Given the description of an element on the screen output the (x, y) to click on. 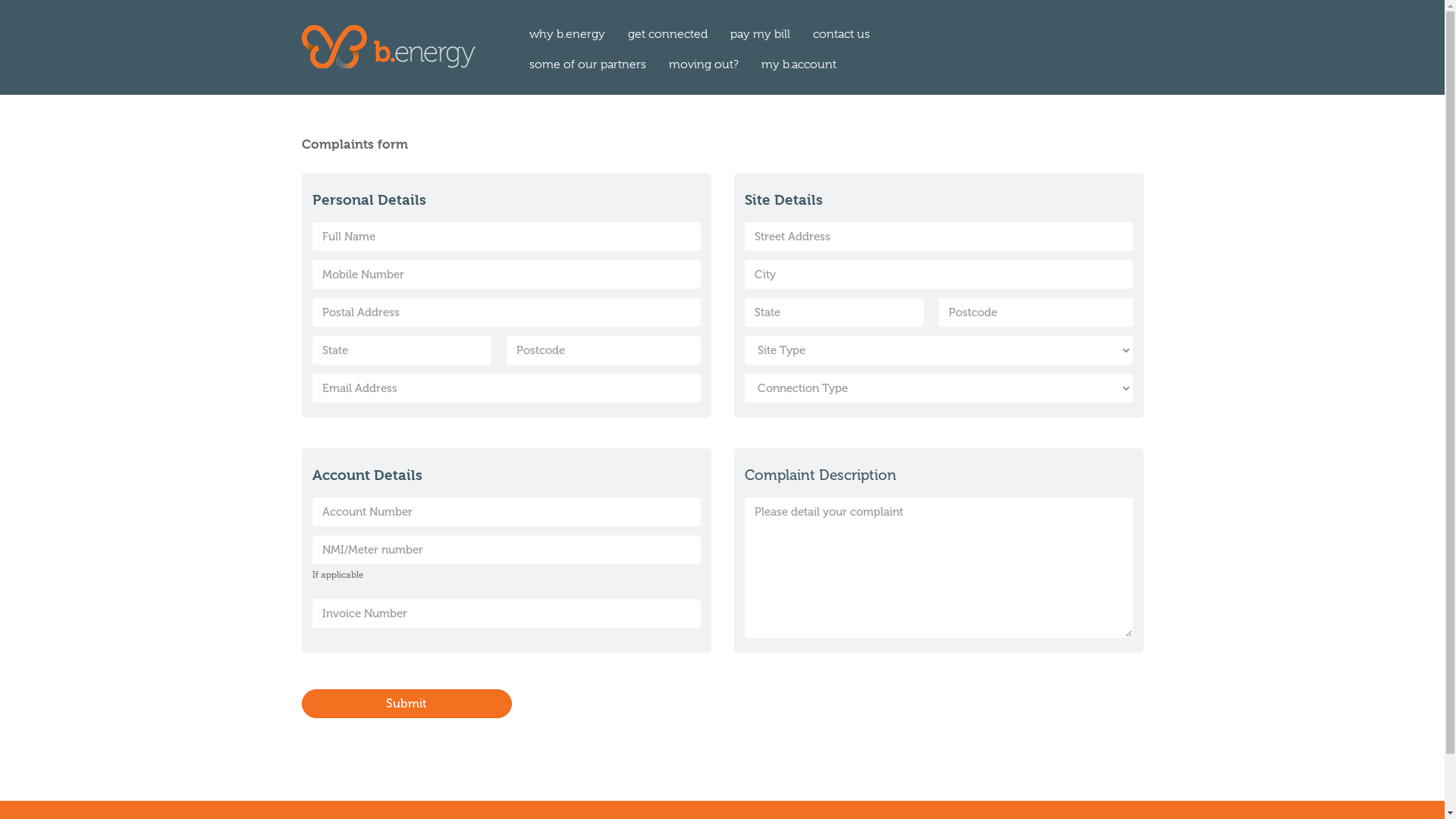
get connected Element type: text (666, 33)
moving out? Element type: text (702, 64)
pay my bill Element type: text (759, 33)
contact us Element type: text (840, 33)
some of our partners Element type: text (586, 64)
my b.account Element type: text (798, 64)
Submit Element type: text (406, 703)
why b.energy Element type: text (566, 33)
